Given the description of an element on the screen output the (x, y) to click on. 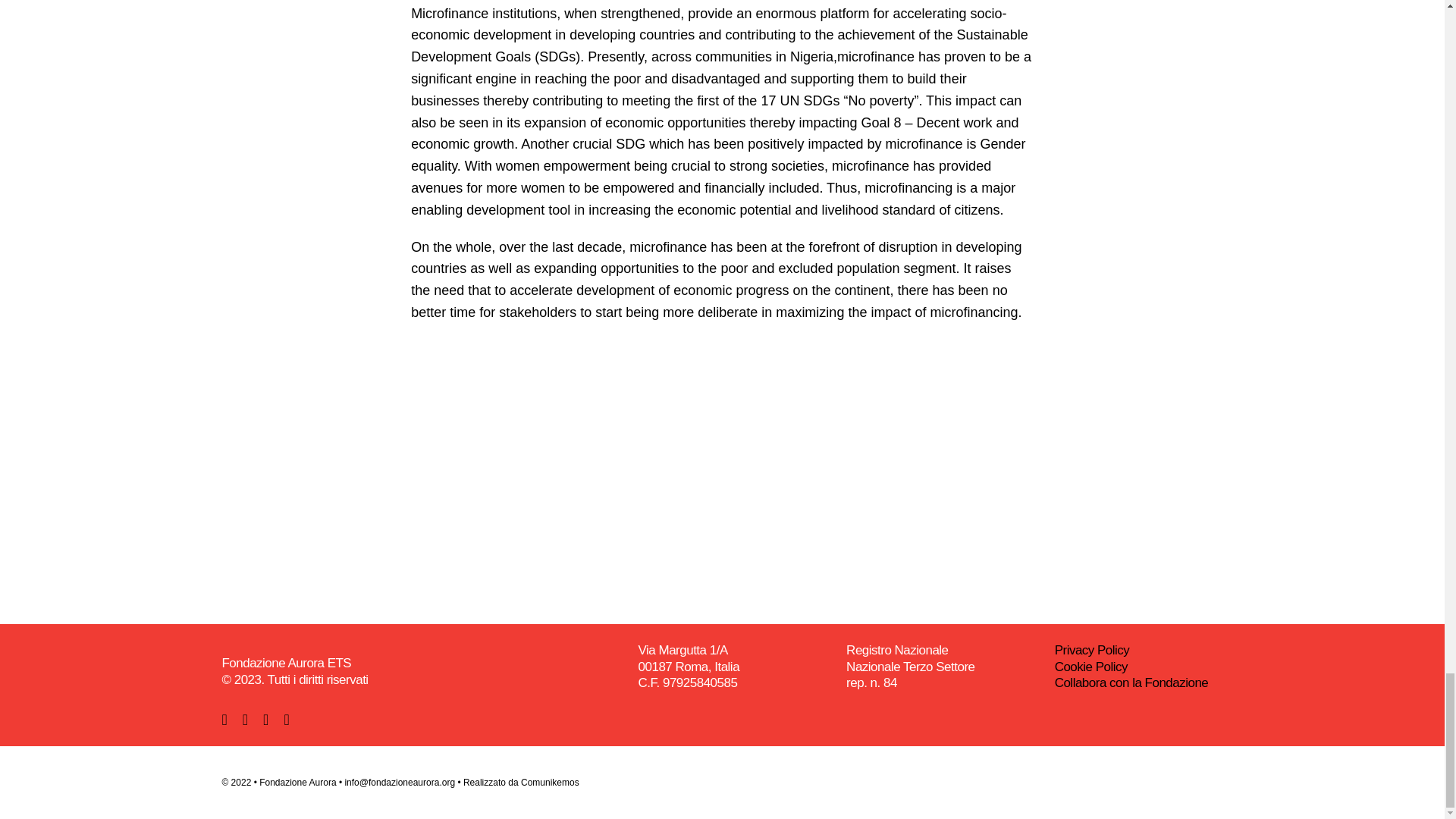
Privacy Policy (1091, 649)
Comunikemos (550, 782)
Collabora con la Fondazione (1131, 682)
Cookie Policy (1090, 667)
